Given the description of an element on the screen output the (x, y) to click on. 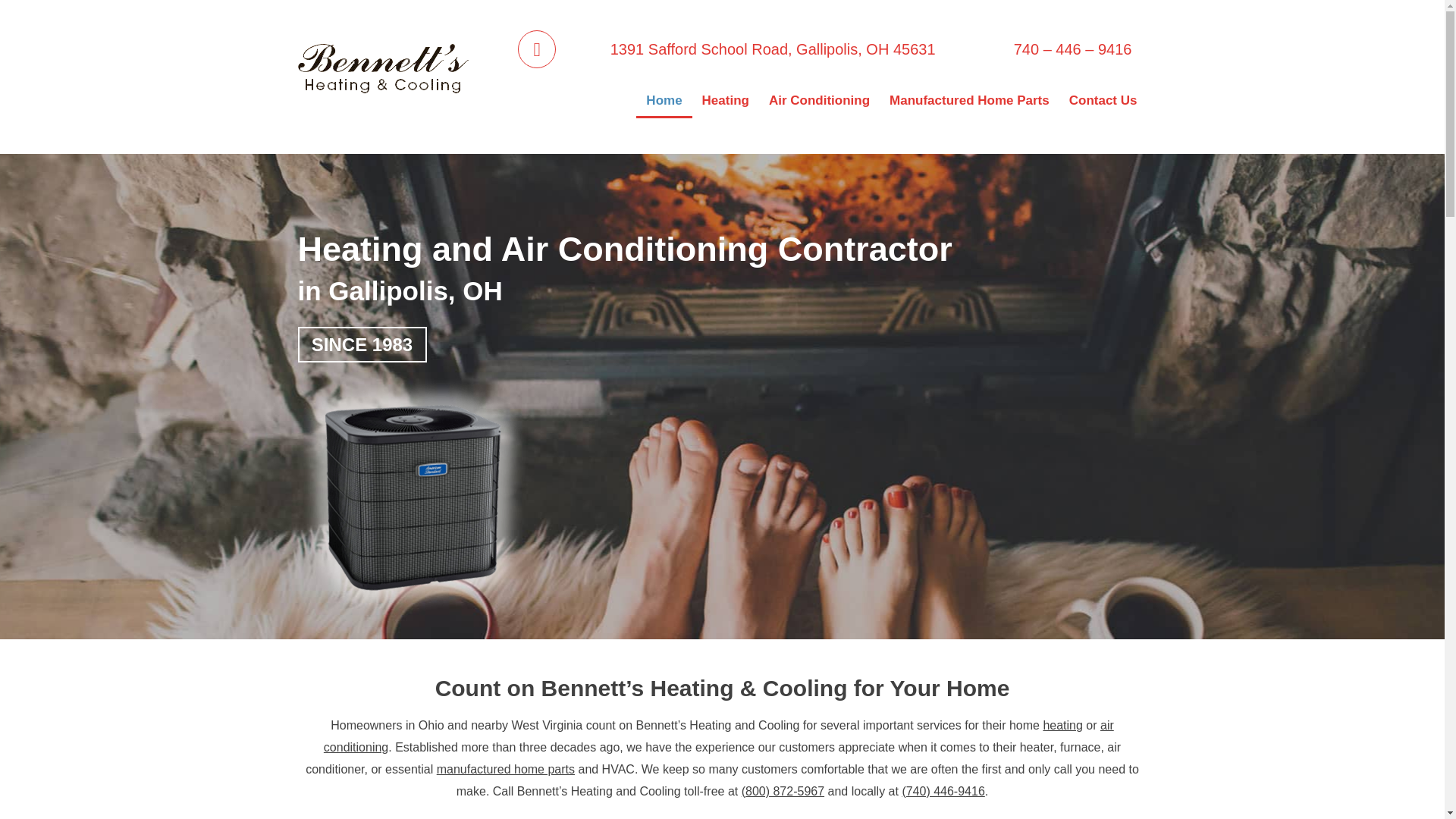
air conditioning (718, 736)
manufactured home parts (505, 768)
Heating (725, 100)
Manufactured Home Parts (969, 100)
Home (663, 100)
Contact Us (1103, 100)
heating (1062, 725)
Air Conditioning (818, 100)
